Given the description of an element on the screen output the (x, y) to click on. 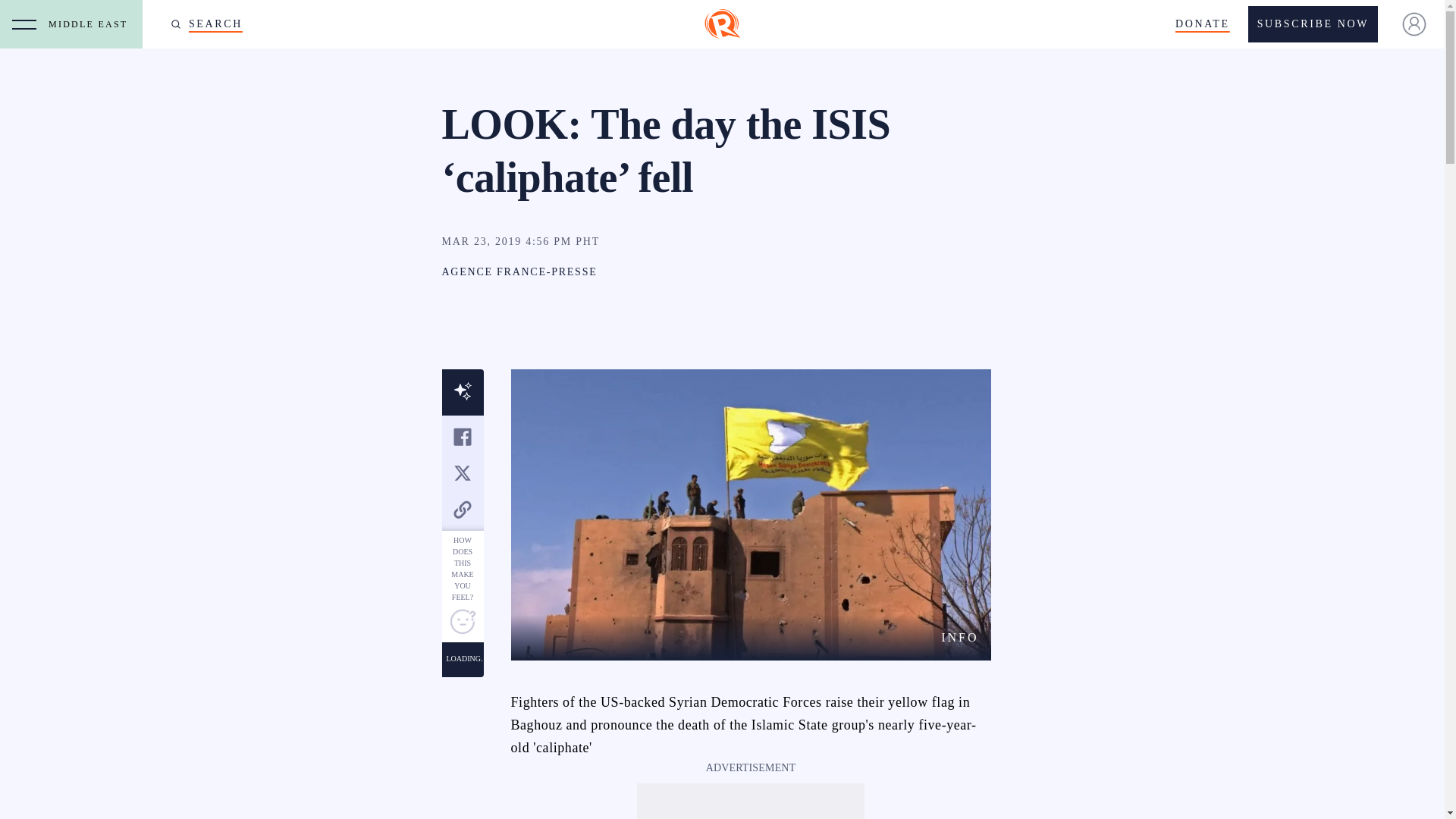
OPEN NAVIGATION (24, 24)
MIDDLE EAST (91, 23)
